Given the description of an element on the screen output the (x, y) to click on. 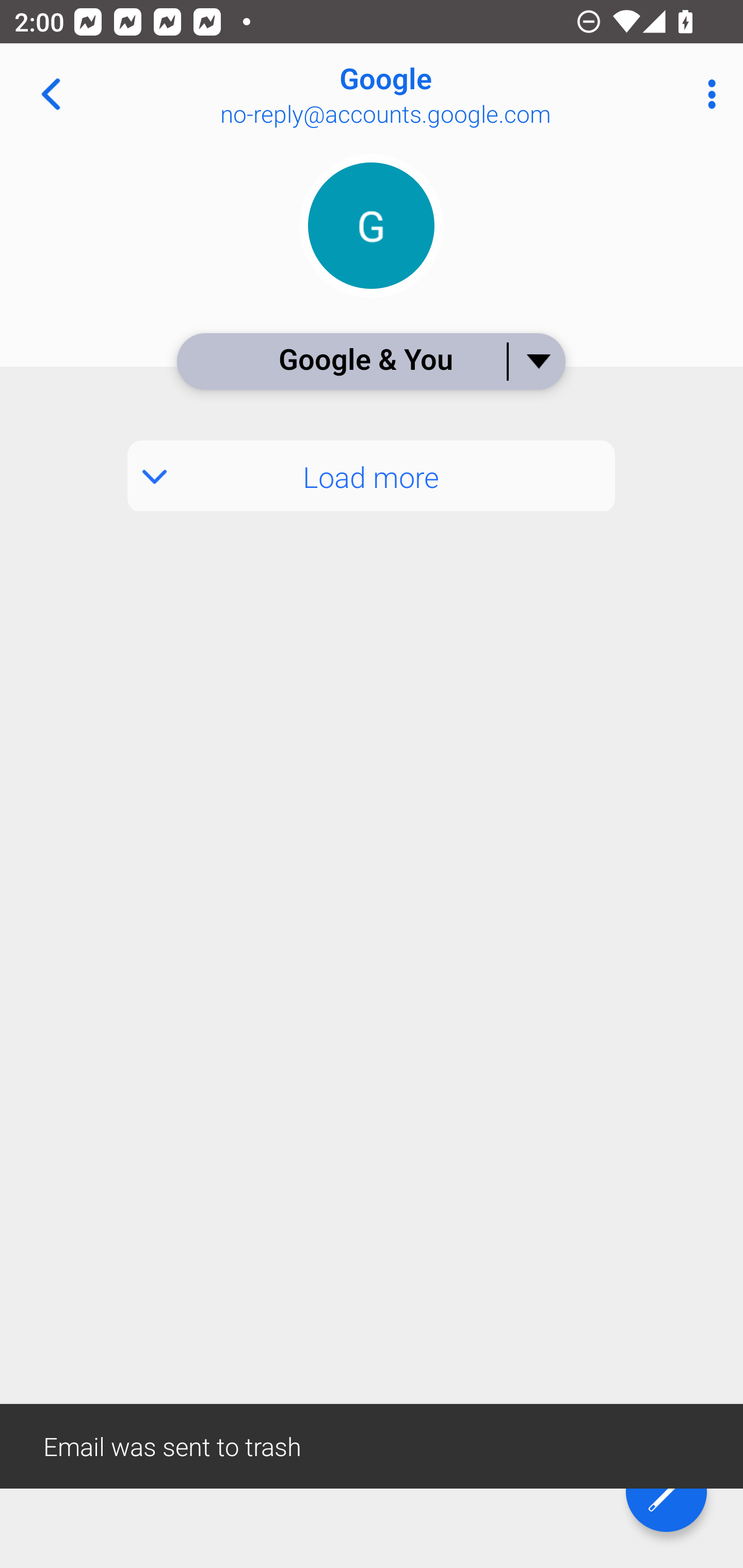
Navigate up (50, 93)
Google no-reply@accounts.google.com (436, 93)
More Options (706, 93)
Google & You (370, 361)
Load more (371, 475)
Email was sent to trash (371, 1445)
